Given the description of an element on the screen output the (x, y) to click on. 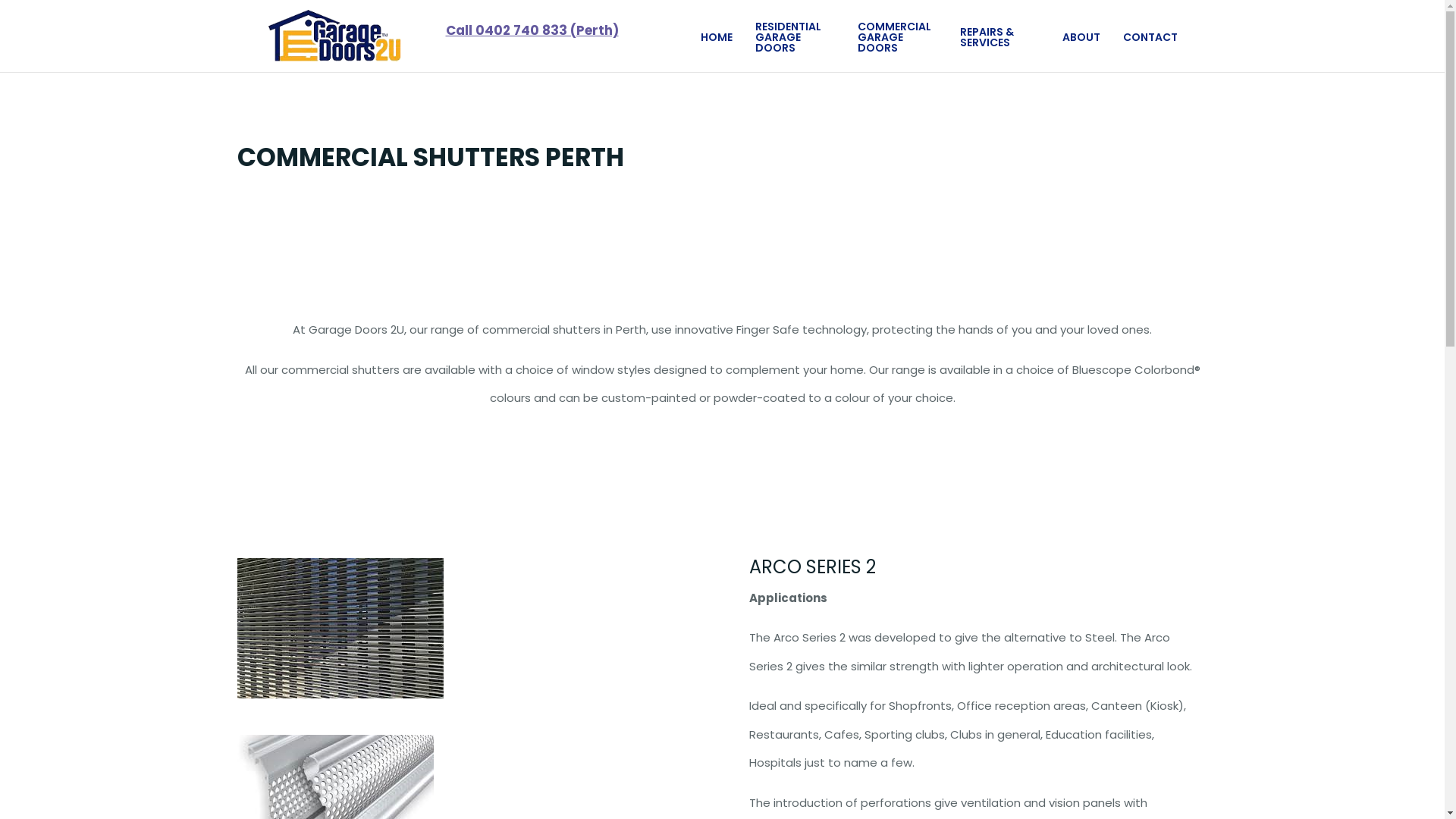
CONTACT Element type: text (1149, 35)
RESIDENTIAL GARAGE DOORS Element type: text (794, 36)
Garage Door Shutters Perth Element type: hover (339, 628)
ABOUT Element type: text (1080, 35)
HOME Element type: text (716, 35)
Call 0402 740 833 (Perth) Element type: text (531, 30)
REPAIRS & SERVICES Element type: text (999, 35)
COMMERCIAL GARAGE DOORS Element type: text (896, 36)
